Given the description of an element on the screen output the (x, y) to click on. 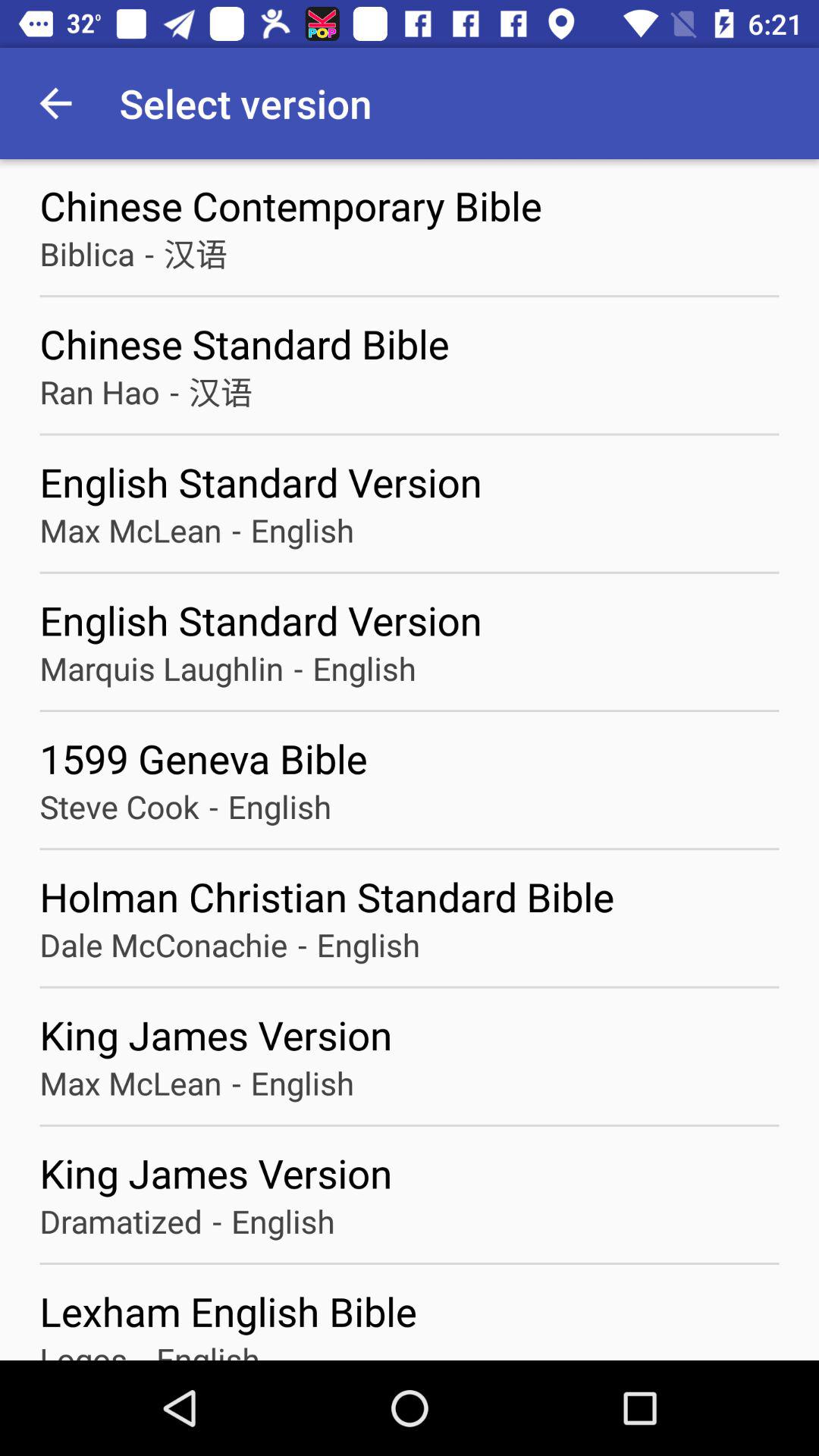
choose item below lexham english bible item (83, 1348)
